Given the description of an element on the screen output the (x, y) to click on. 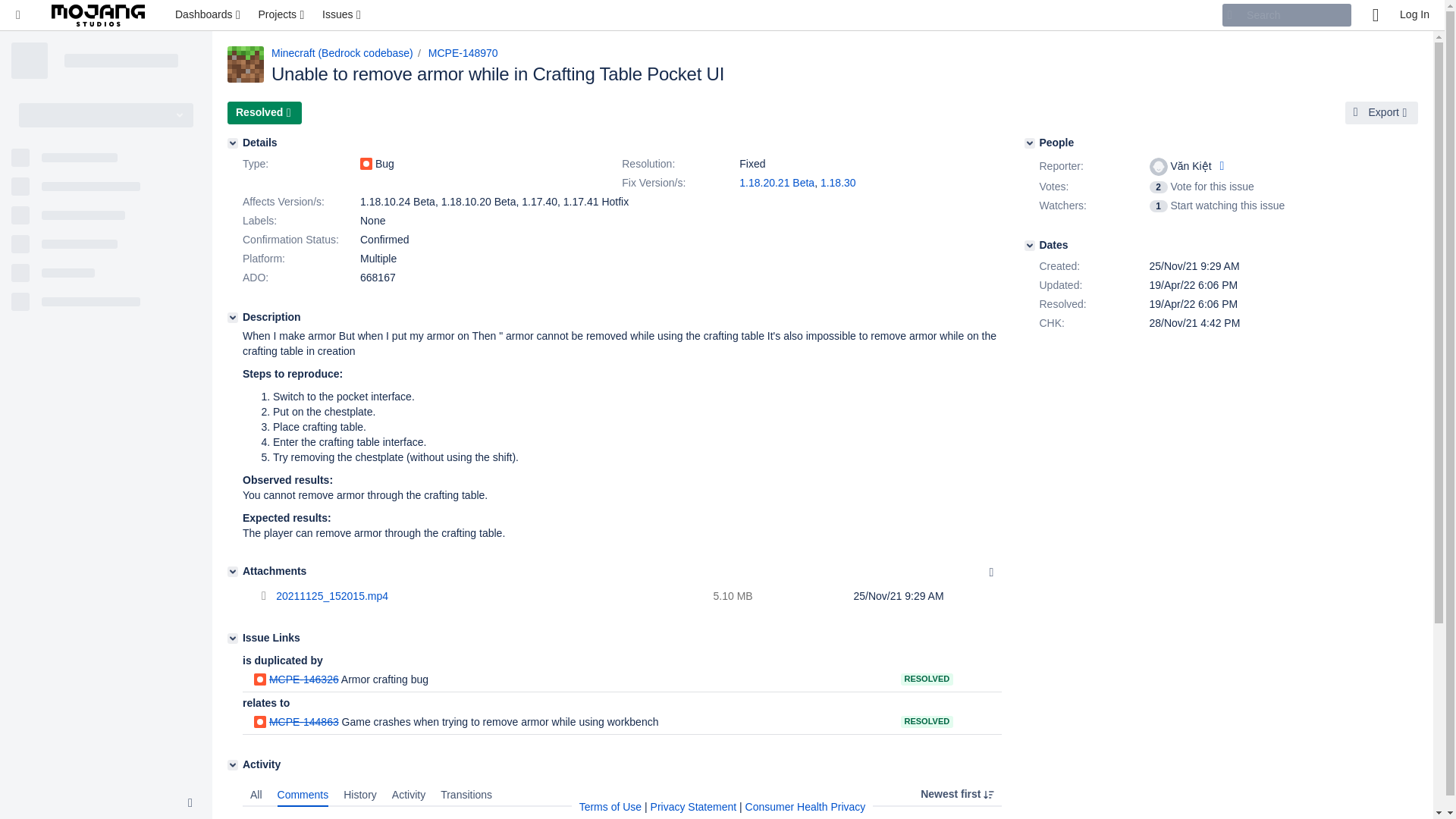
MCPE-148970 (462, 52)
Help (1374, 15)
1.18.30 (838, 182)
Type (299, 164)
Dashboards (208, 15)
Description (232, 317)
Consumer Health Privacy (805, 806)
View recent projects and browse a list of projects (282, 15)
1.18.20.21 Beta (776, 182)
View and manage your dashboards (208, 15)
Resolution (678, 164)
Details (232, 143)
1.18.20.21 Beta 1.18.20.21 Beta (776, 182)
Export this issue in another format (1381, 112)
